Given the description of an element on the screen output the (x, y) to click on. 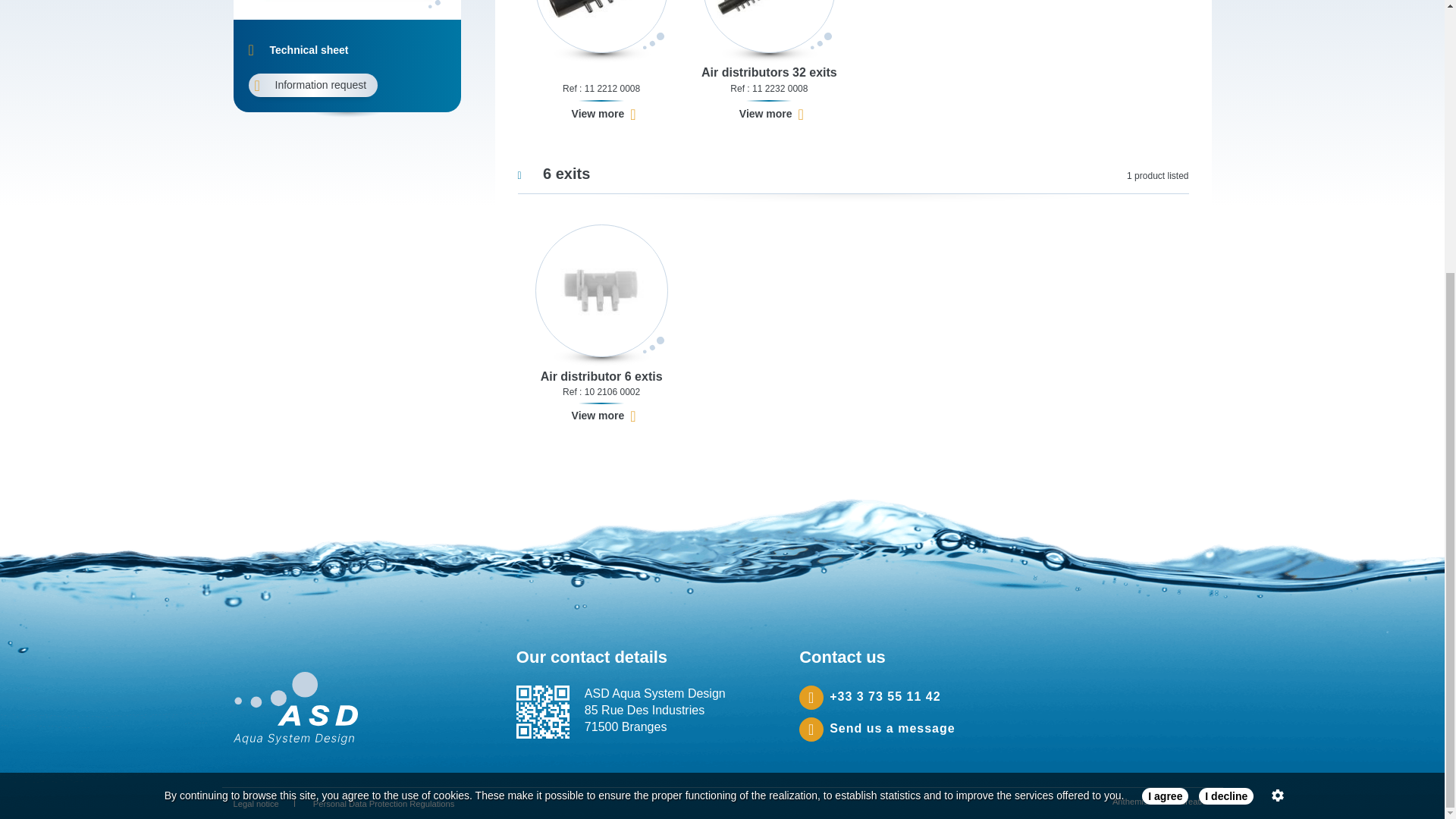
read more (1279, 394)
View more (604, 416)
Air distributor 6 extis (600, 376)
Technical sheet (298, 50)
View more (604, 114)
View more (771, 114)
Information request (313, 85)
Cliquez pour afficher le QR code (542, 711)
Anthemis website creation (1161, 801)
Air distributors 32 exits (769, 72)
